Given the description of an element on the screen output the (x, y) to click on. 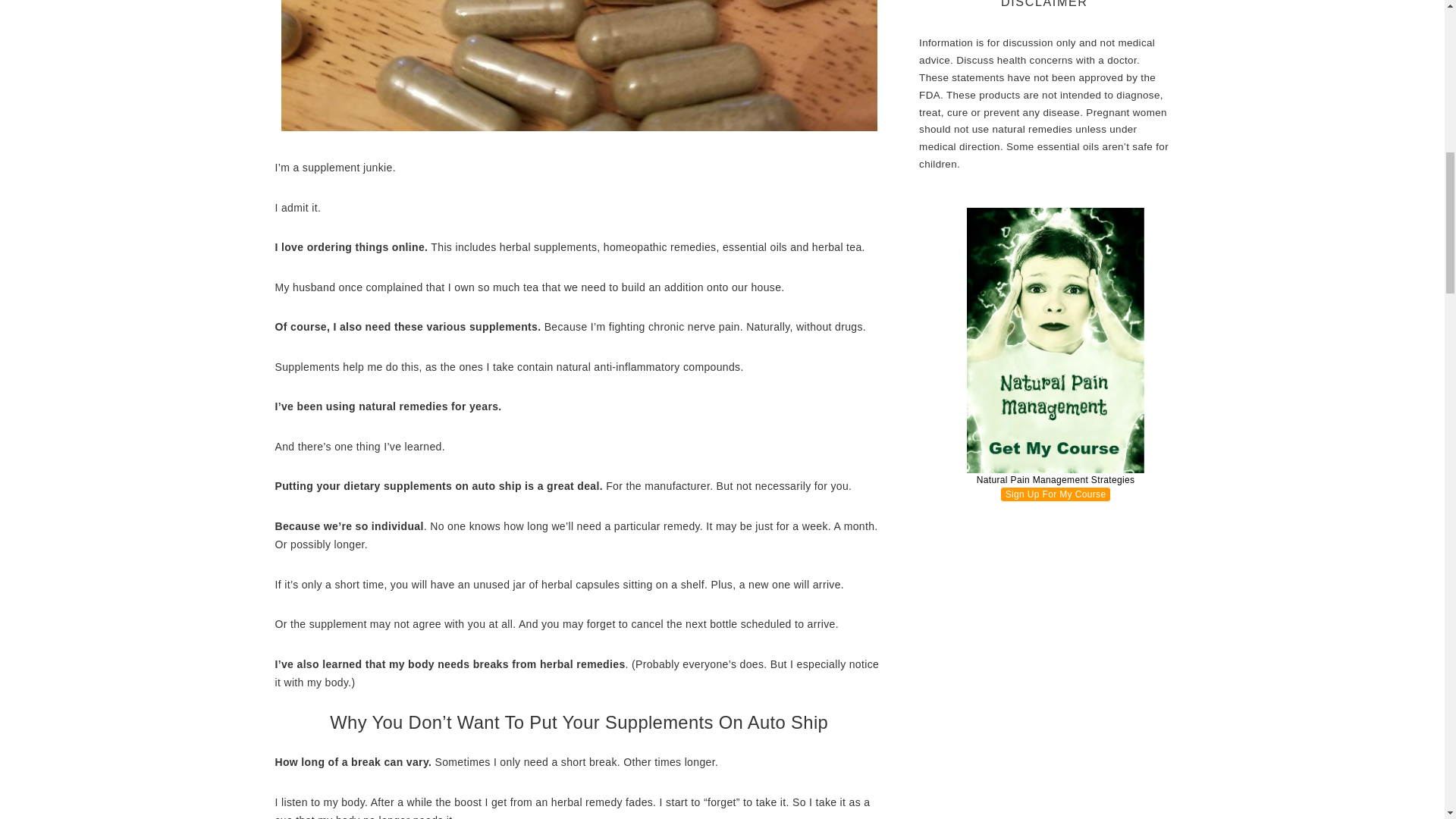
Natural Pain Management Strategies (1055, 357)
